Given the description of an element on the screen output the (x, y) to click on. 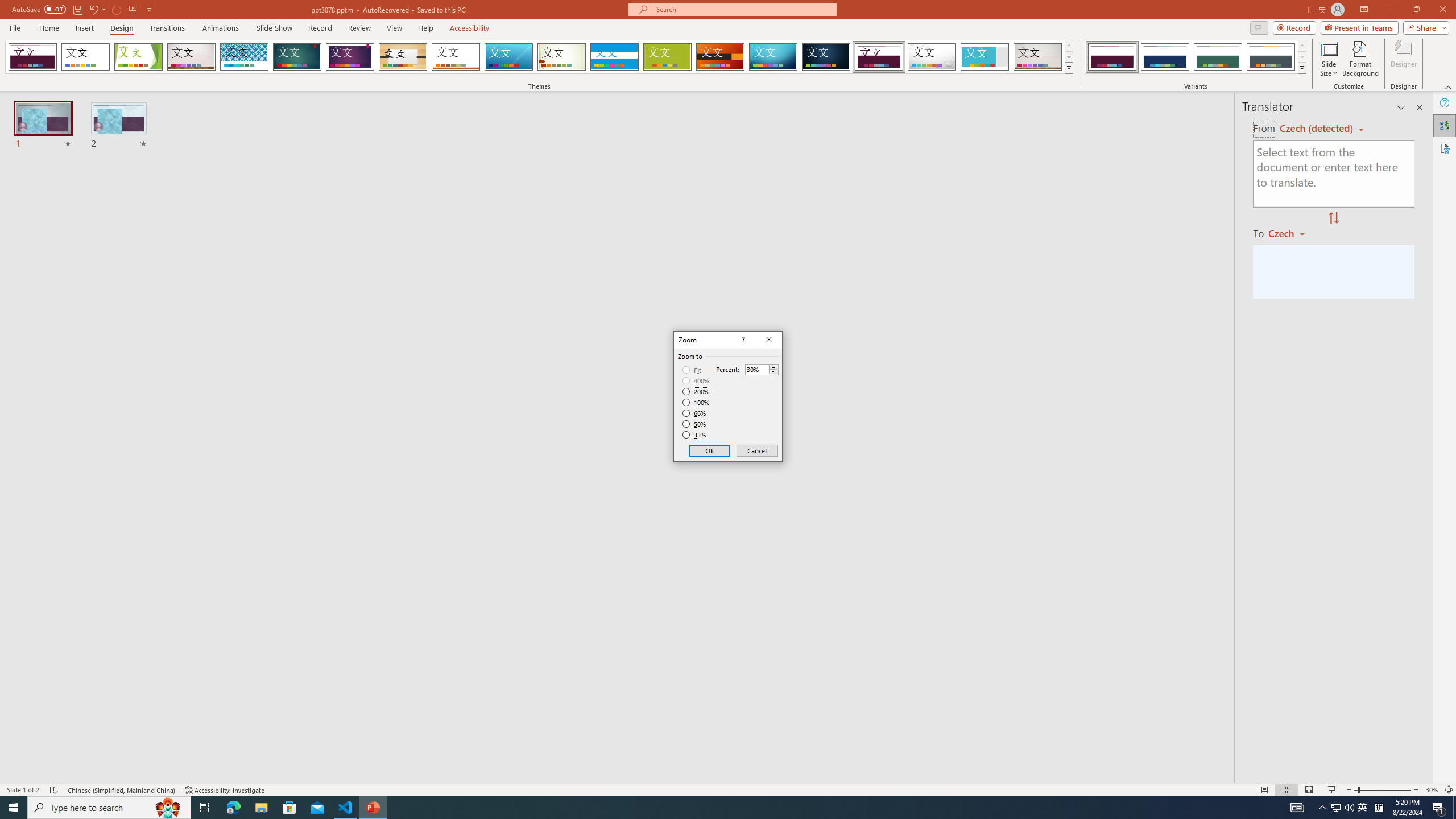
Ion Boardroom (350, 56)
Percent (761, 369)
Zoom 30% (1431, 790)
AutomationID: ThemeVariantsGallery (1195, 56)
Czech (1291, 232)
